Given the description of an element on the screen output the (x, y) to click on. 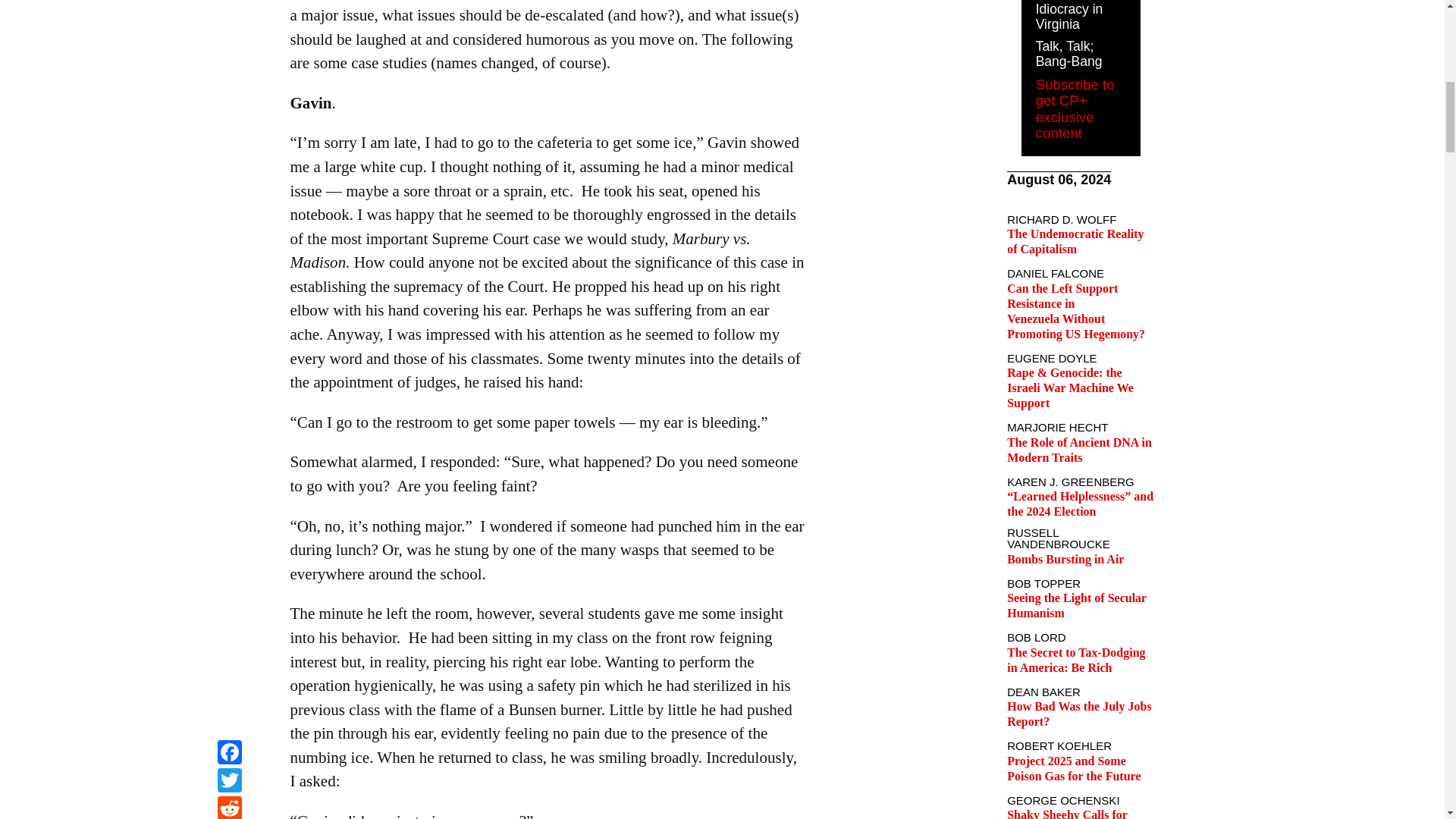
Reddit (229, 2)
Talk, Talk; Bang-Bang (1068, 53)
Idiocracy in Virginia (1069, 16)
Email (229, 18)
The Undemocratic Reality of Capitalism (1074, 241)
Email (229, 18)
Reddit (229, 2)
